Given the description of an element on the screen output the (x, y) to click on. 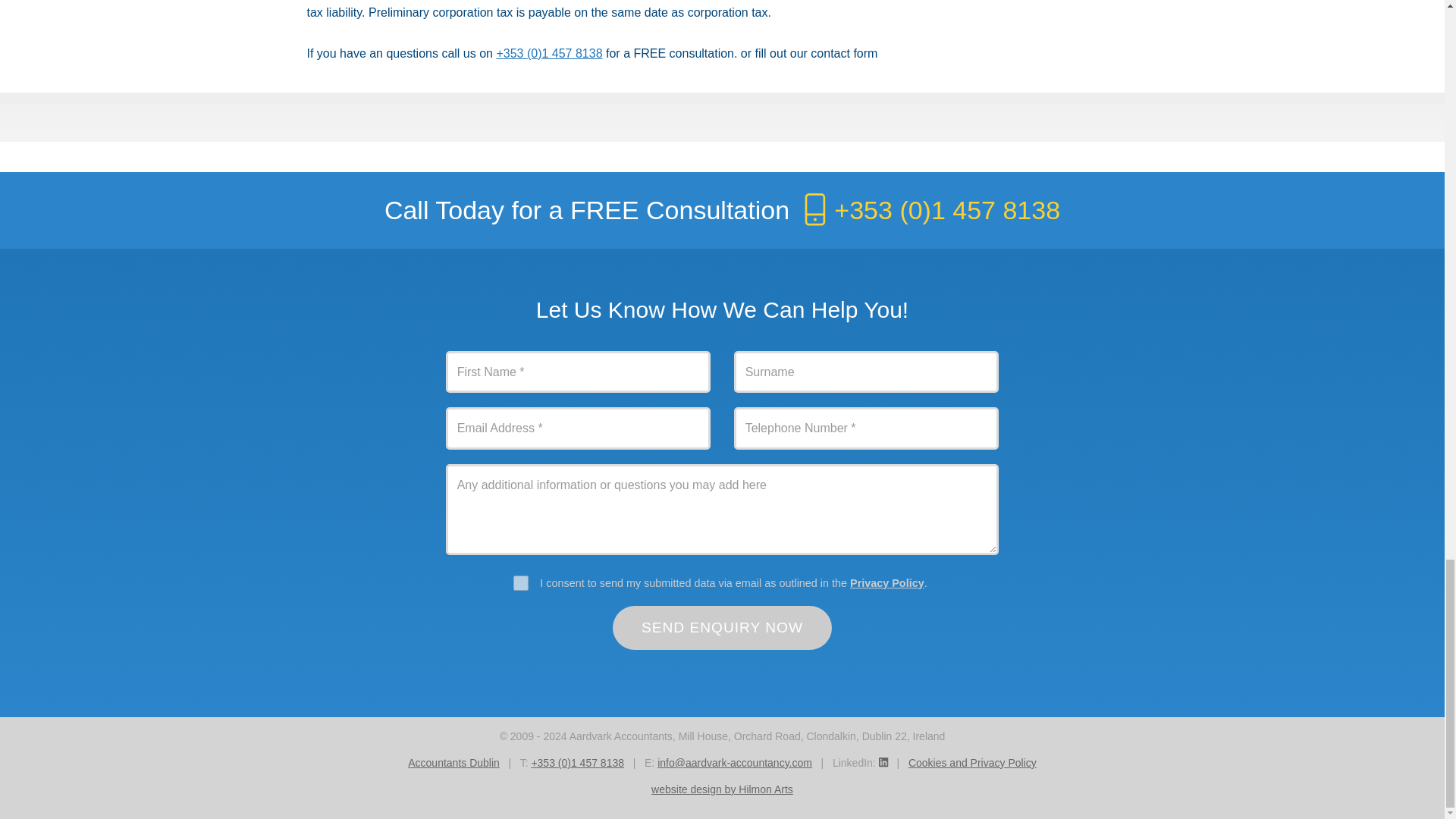
website design by Hilmon Arts (721, 788)
Accountants Dublin (453, 762)
Cookies and Privacy Policy (972, 762)
SEND ENQUIRY NOW (722, 628)
Accountants Dublin (453, 762)
Privacy Policy (887, 582)
SEND ENQUIRY NOW (722, 628)
1 (520, 582)
